Given the description of an element on the screen output the (x, y) to click on. 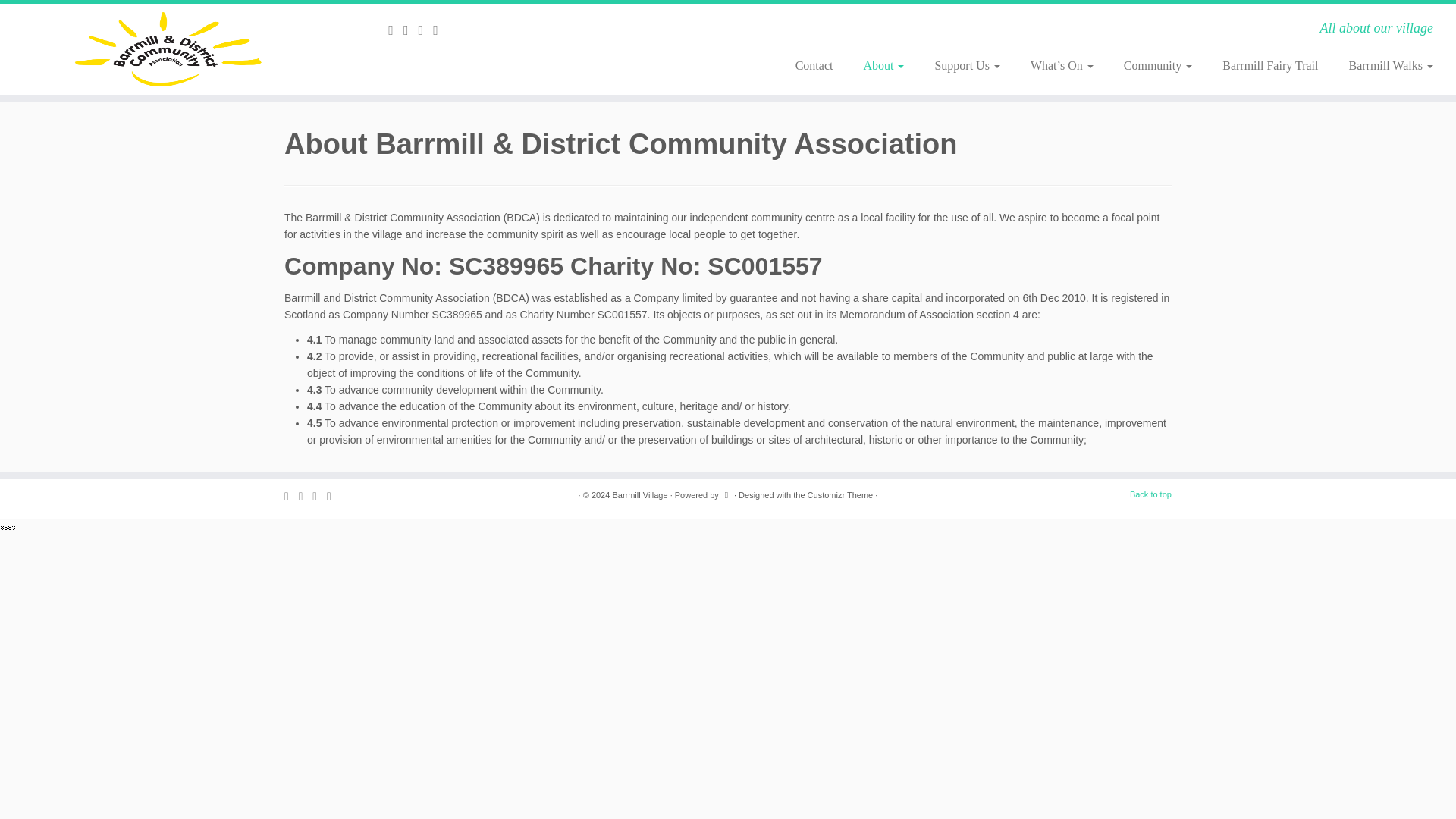
Support Us (966, 65)
Follow us on Twitter (426, 29)
Barrmill Walks (1382, 65)
Barrmill Fairy Trail (1270, 65)
Community (1157, 65)
Follow me on Facebook (411, 29)
Contact (814, 65)
About (882, 65)
Follow us on Tripadvisor (440, 29)
E-mail (395, 29)
